Given the description of an element on the screen output the (x, y) to click on. 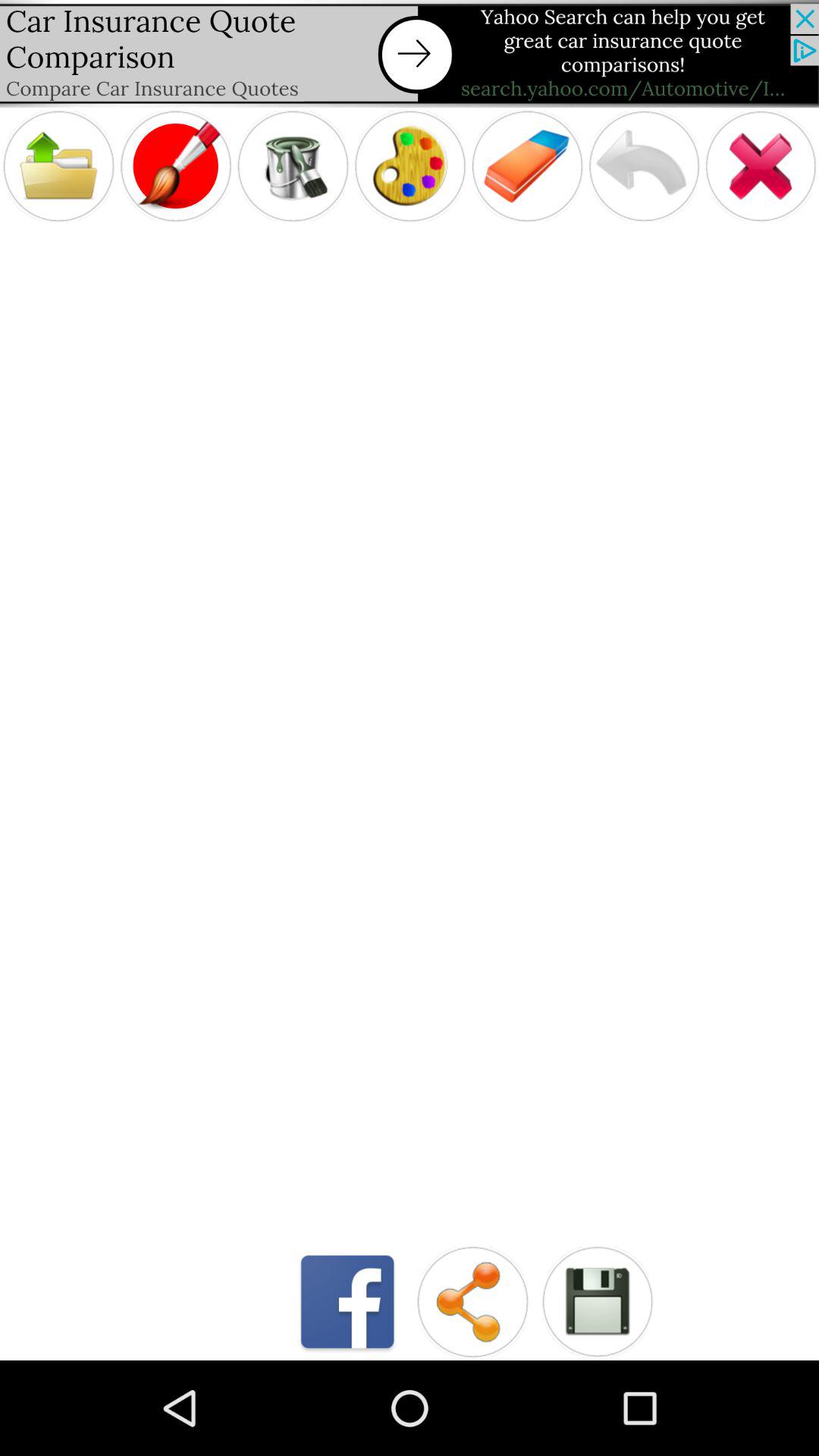
go back (643, 165)
